Given the description of an element on the screen output the (x, y) to click on. 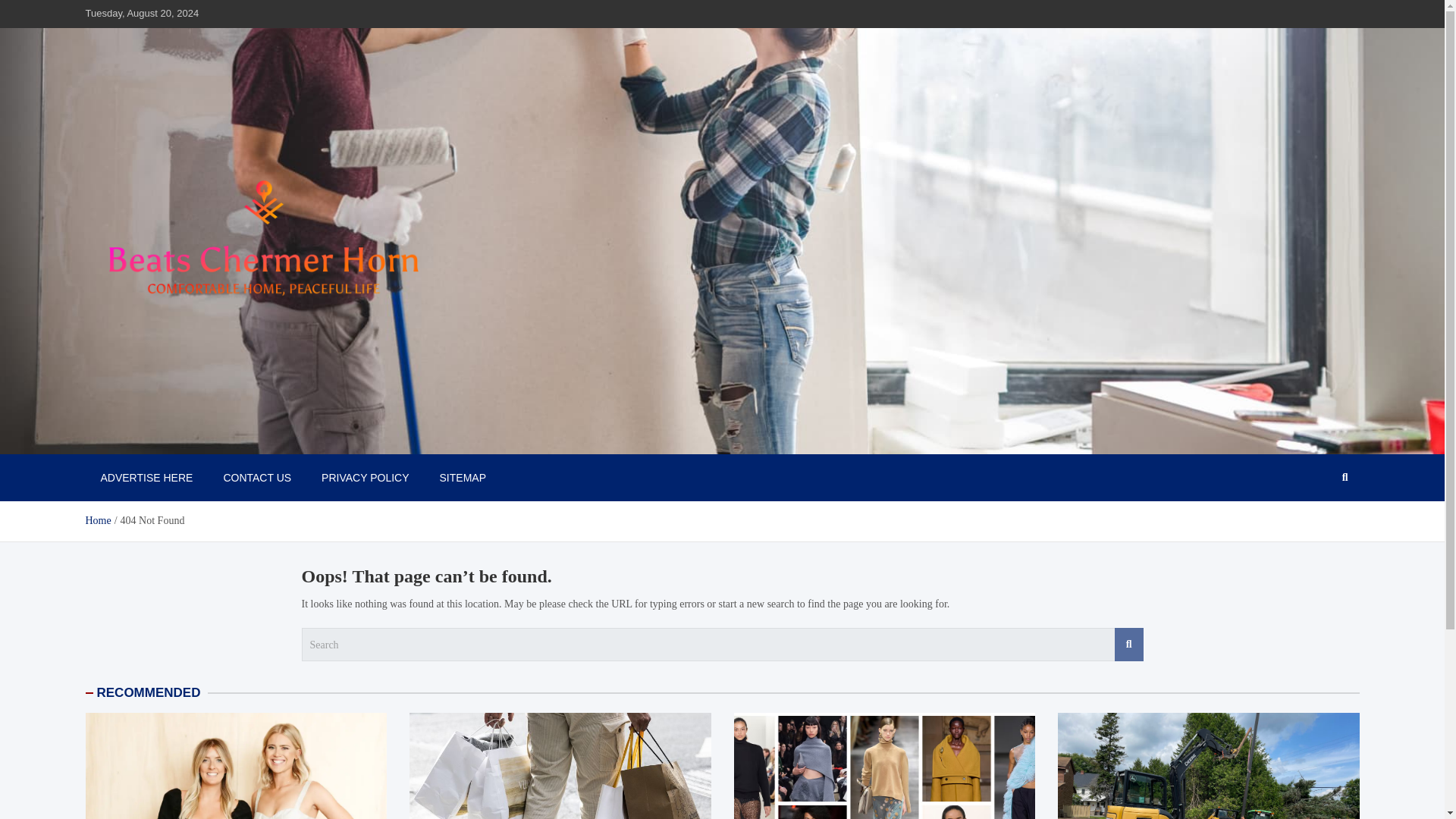
SITEMAP (462, 477)
RECOMMENDED (148, 692)
Home (97, 520)
The 6 Fall 2024 Fashion Trends, According to the Runways (882, 765)
PRIVACY POLICY (364, 477)
ADVERTISE HERE (146, 477)
Shopping hauls are so back (559, 765)
Beats Chermer Horn (193, 437)
CONTACT US (256, 477)
